Given the description of an element on the screen output the (x, y) to click on. 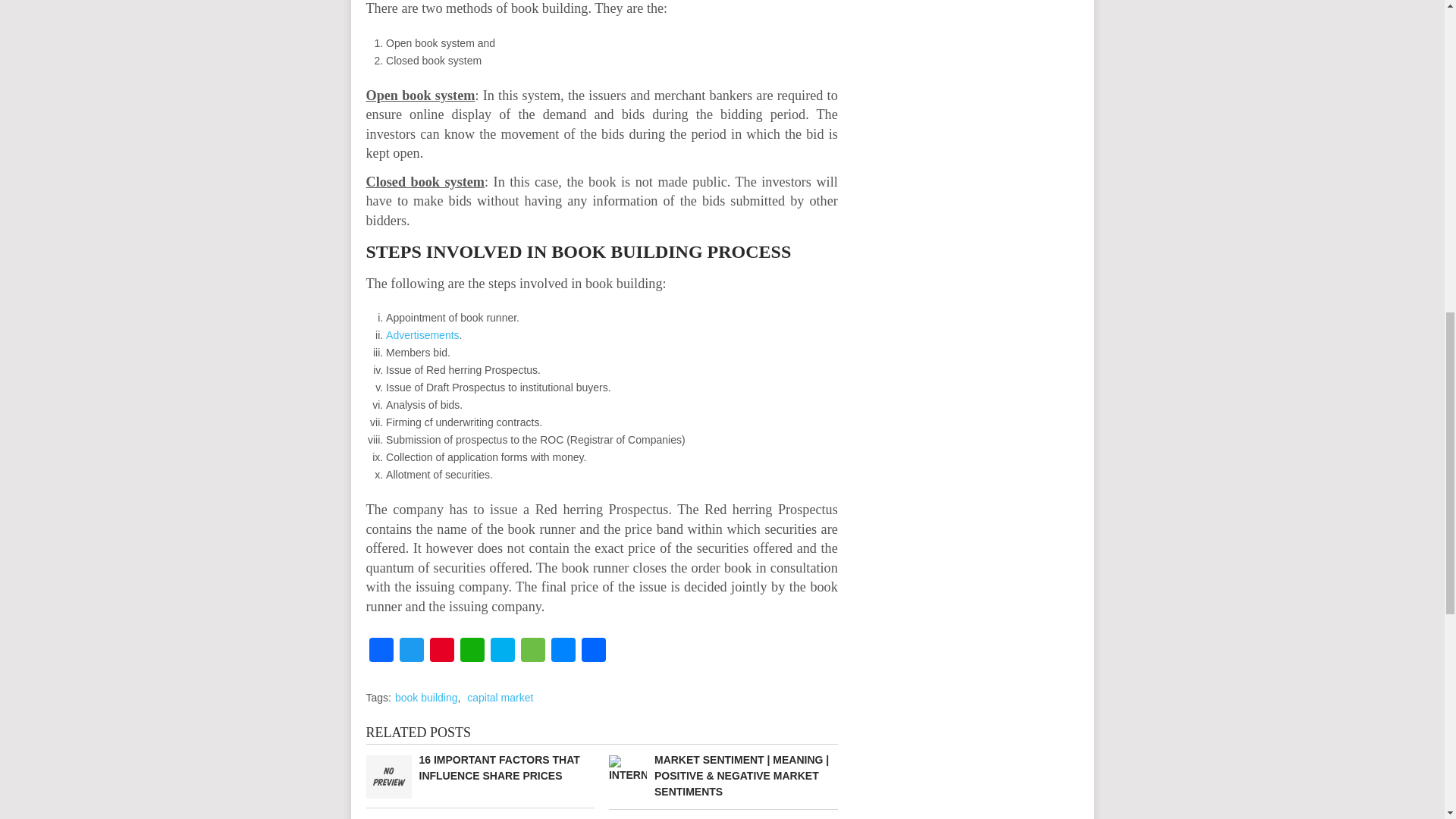
WhatsApp (471, 651)
8 methods to determine Cost Price of Stock (479, 817)
Facebook (380, 651)
Facebook (380, 651)
Twitter (411, 651)
Messenger (562, 651)
Message (531, 651)
8 METHODS TO DETERMINE COST PRICE OF STOCK (479, 817)
book building (426, 697)
Message (531, 651)
